Given the description of an element on the screen output the (x, y) to click on. 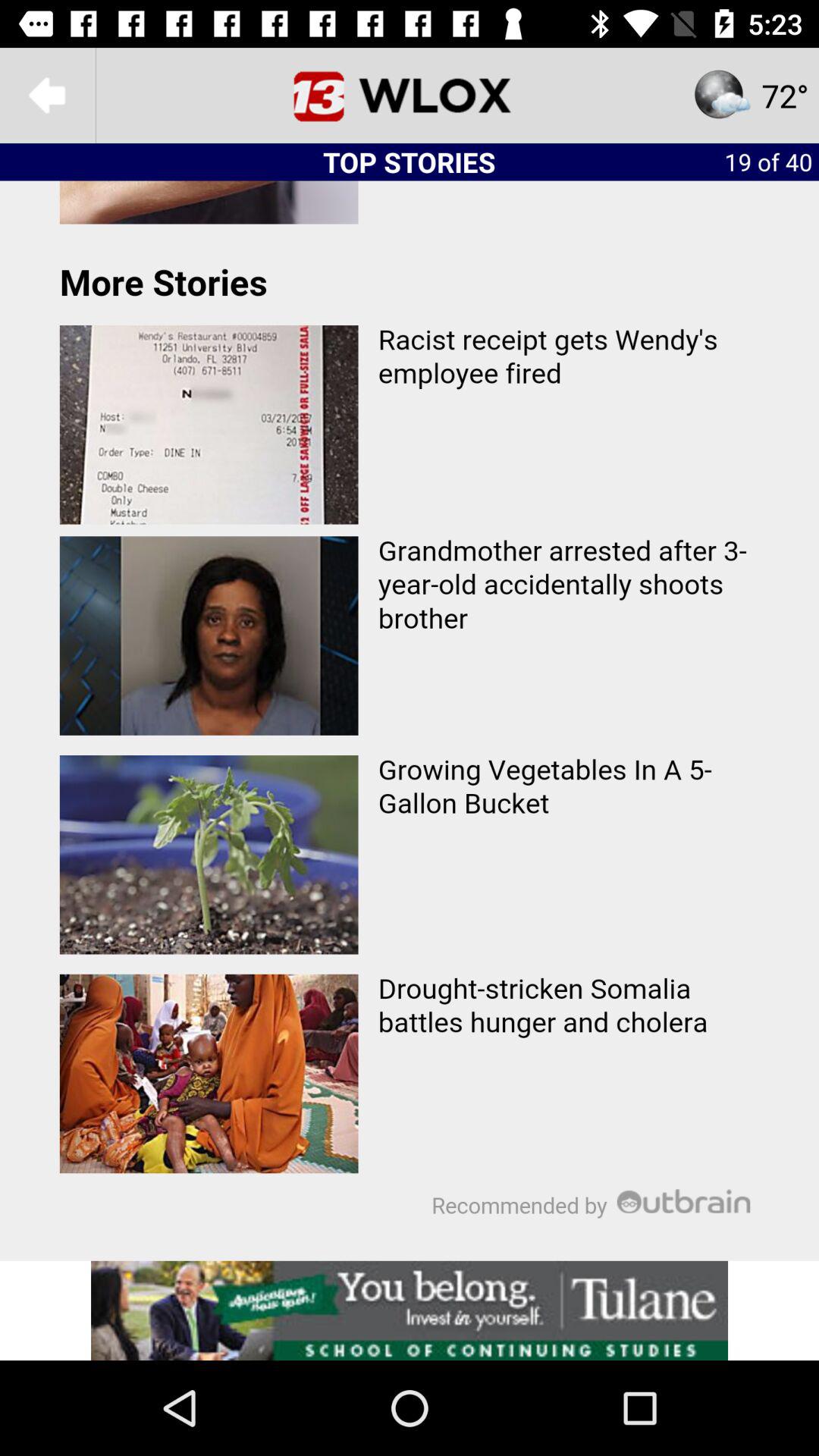
go to site home (409, 95)
